Given the description of an element on the screen output the (x, y) to click on. 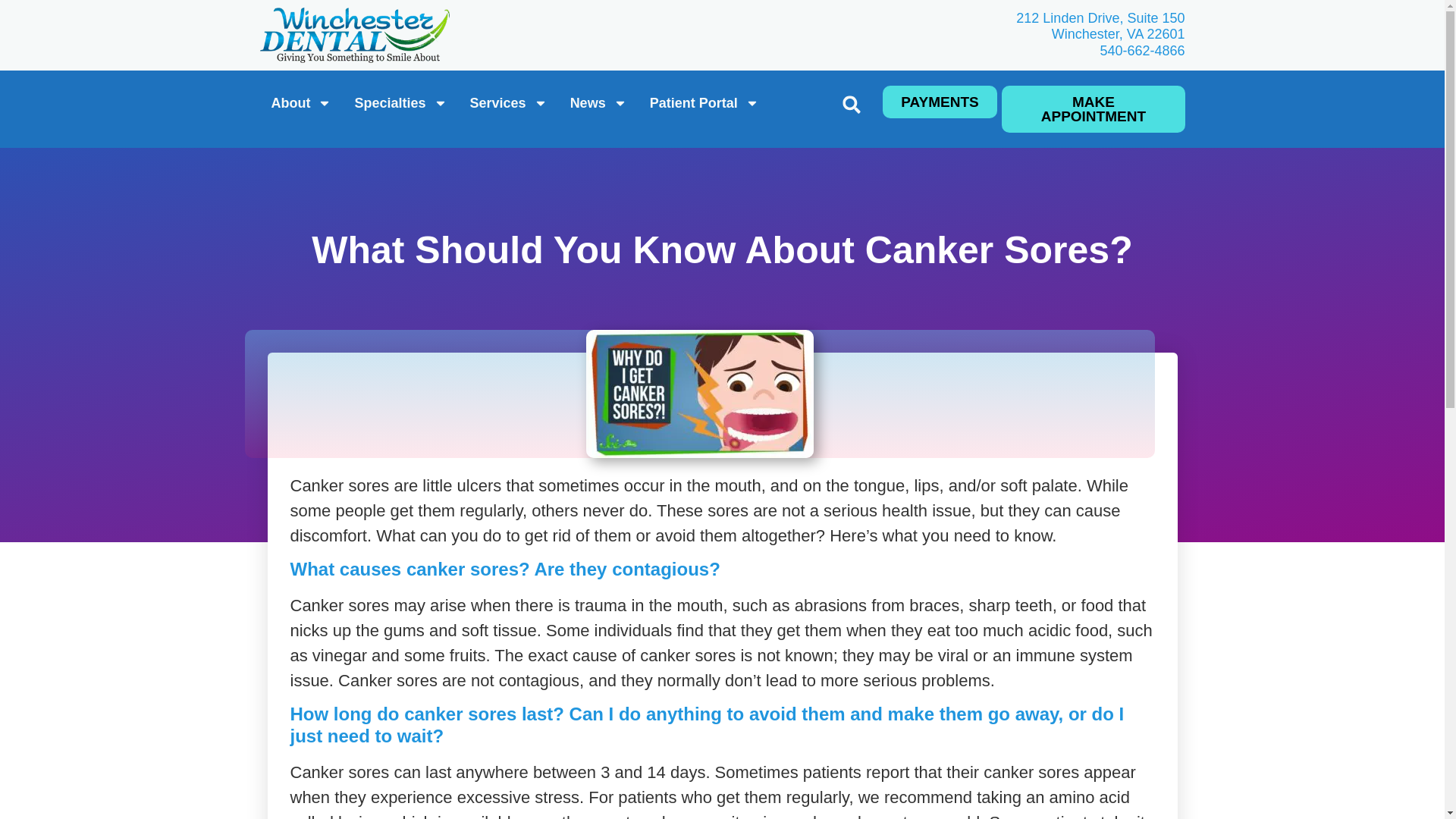
News (599, 102)
Services (508, 102)
540-662-4866 (1142, 50)
Specialties (879, 26)
Patient Portal (400, 102)
About (704, 102)
